Given the description of an element on the screen output the (x, y) to click on. 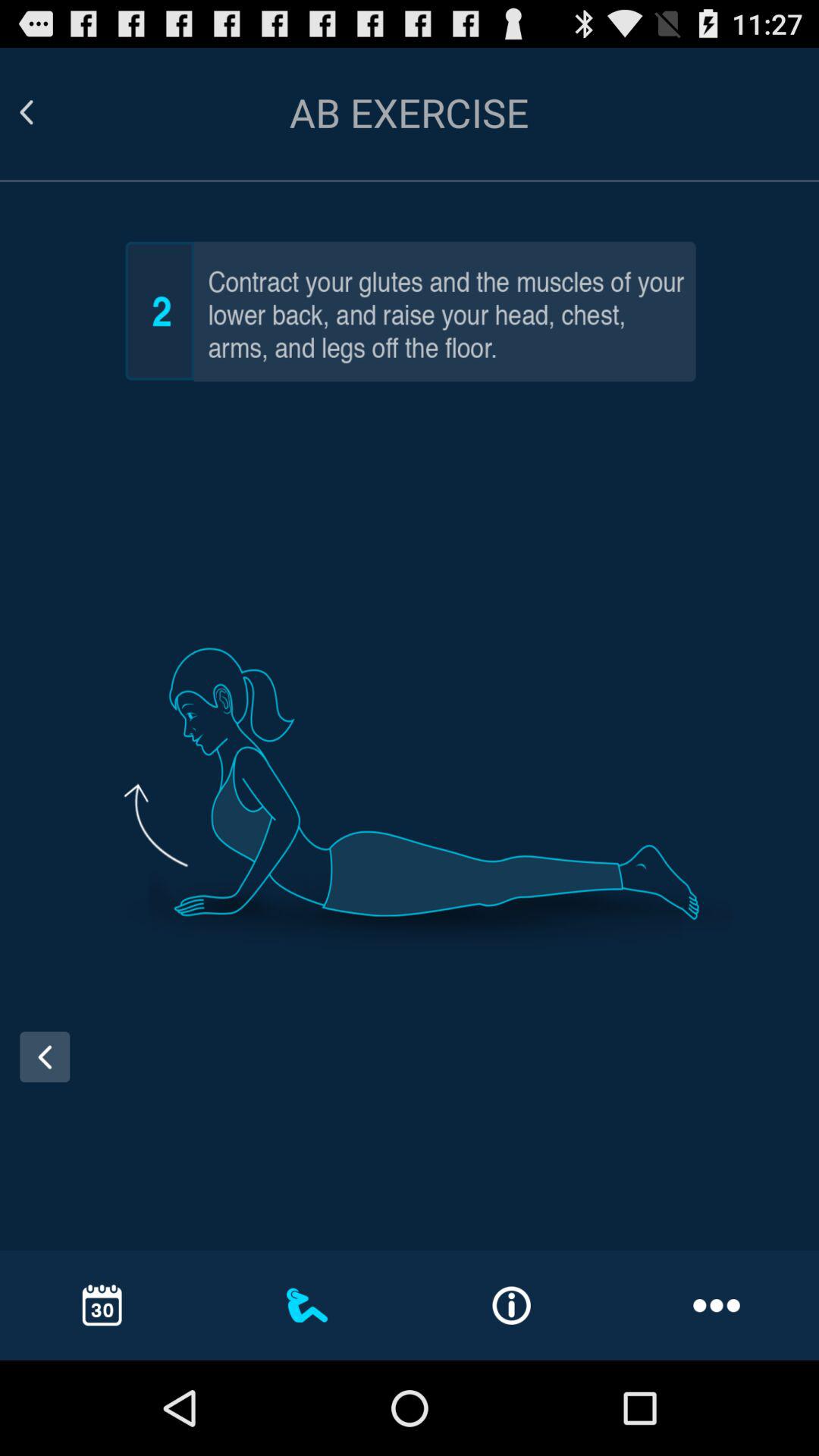
select the button which is next to the information button (716, 1304)
